Given the description of an element on the screen output the (x, y) to click on. 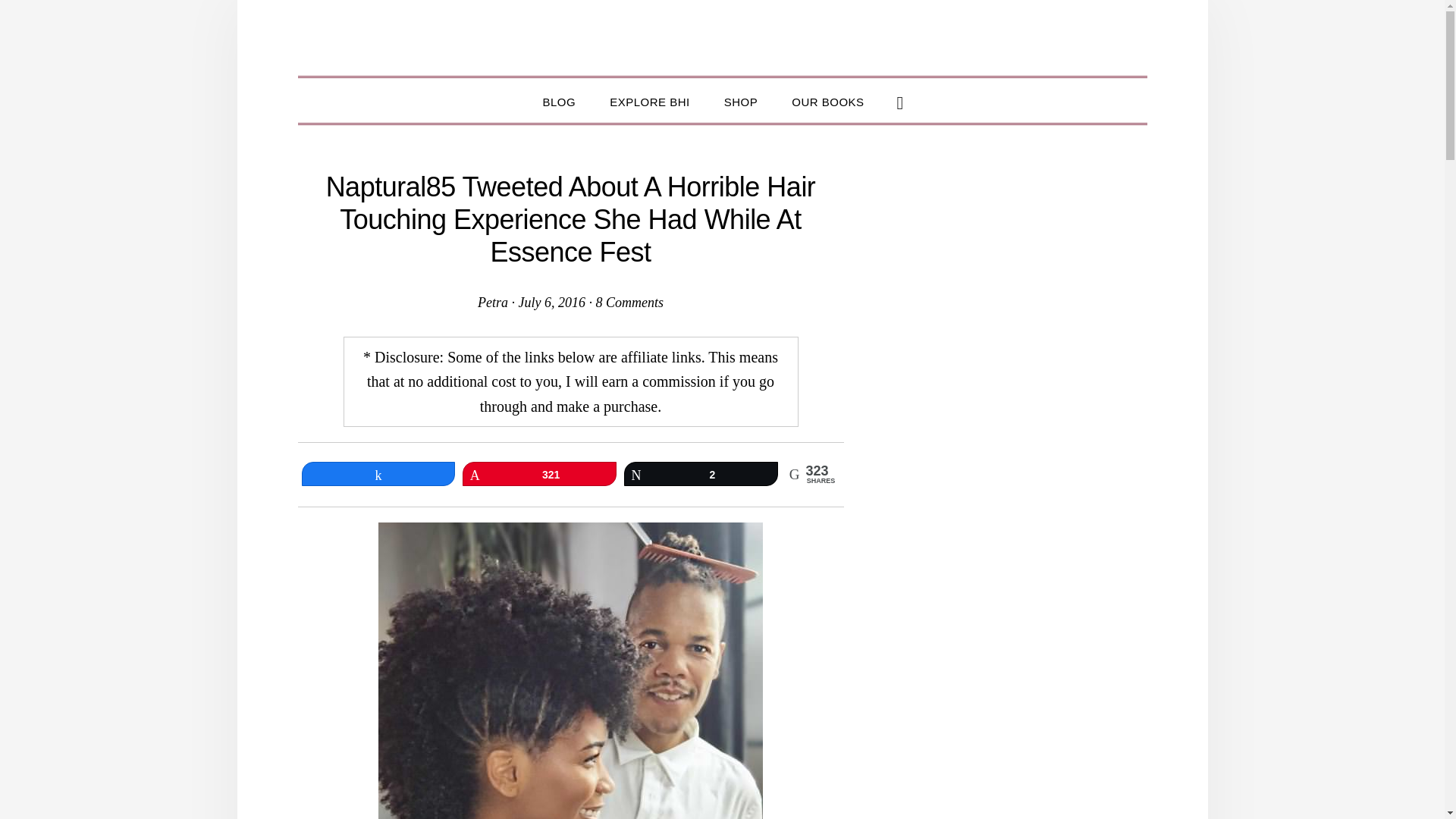
EXPLORE BHI (649, 99)
SHOP (741, 99)
BLACK HAIR INFORMATION (721, 37)
BLOG (559, 99)
